Given the description of an element on the screen output the (x, y) to click on. 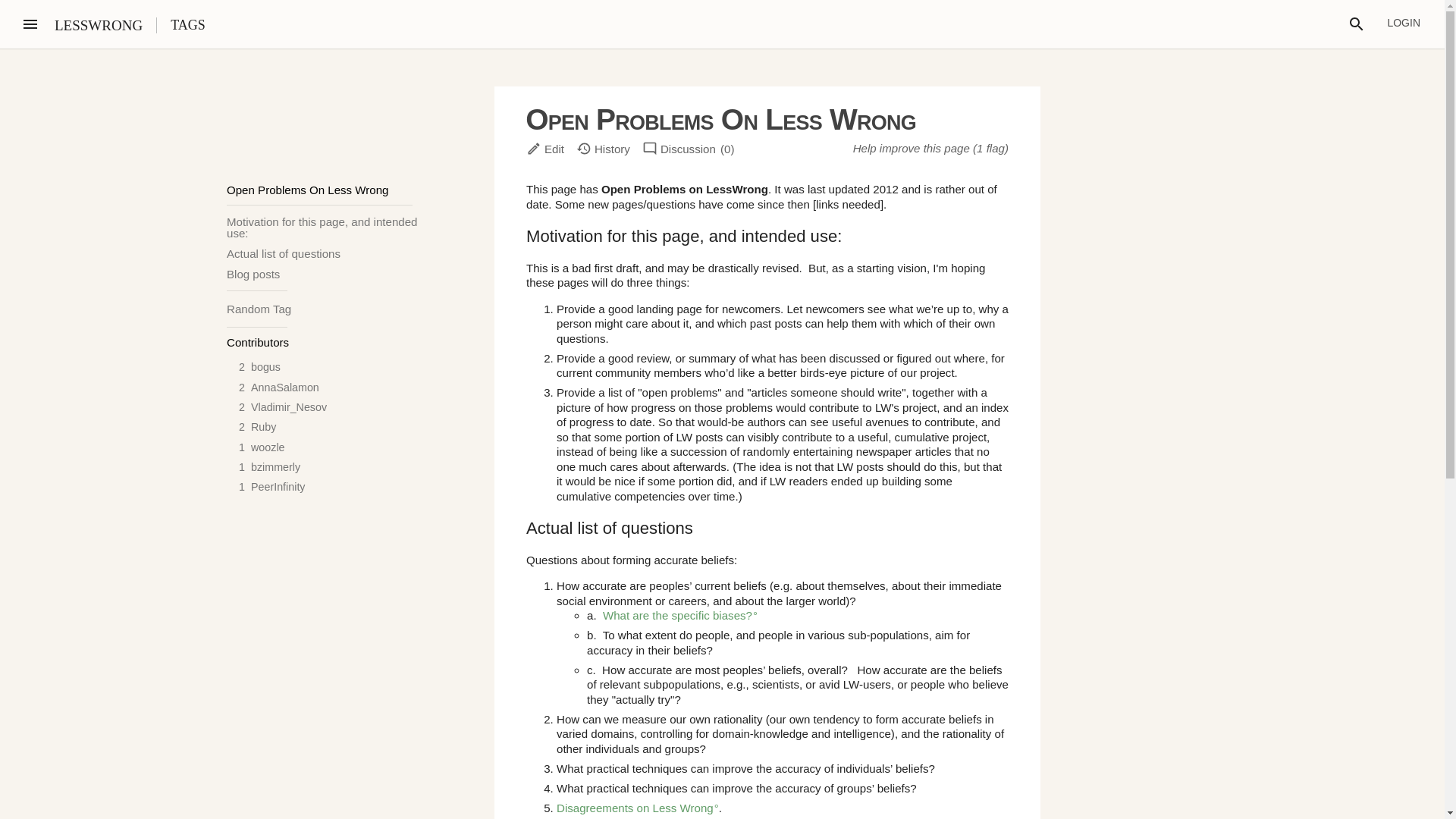
LESSWRONG (98, 25)
History (603, 148)
woozle (267, 447)
Random Tag (259, 308)
bogus (265, 367)
PeerInfinity (277, 486)
Ruby (263, 426)
Actual list of questions (323, 253)
Open Problems On Less Wrong (319, 193)
TAGS (187, 24)
